Given the description of an element on the screen output the (x, y) to click on. 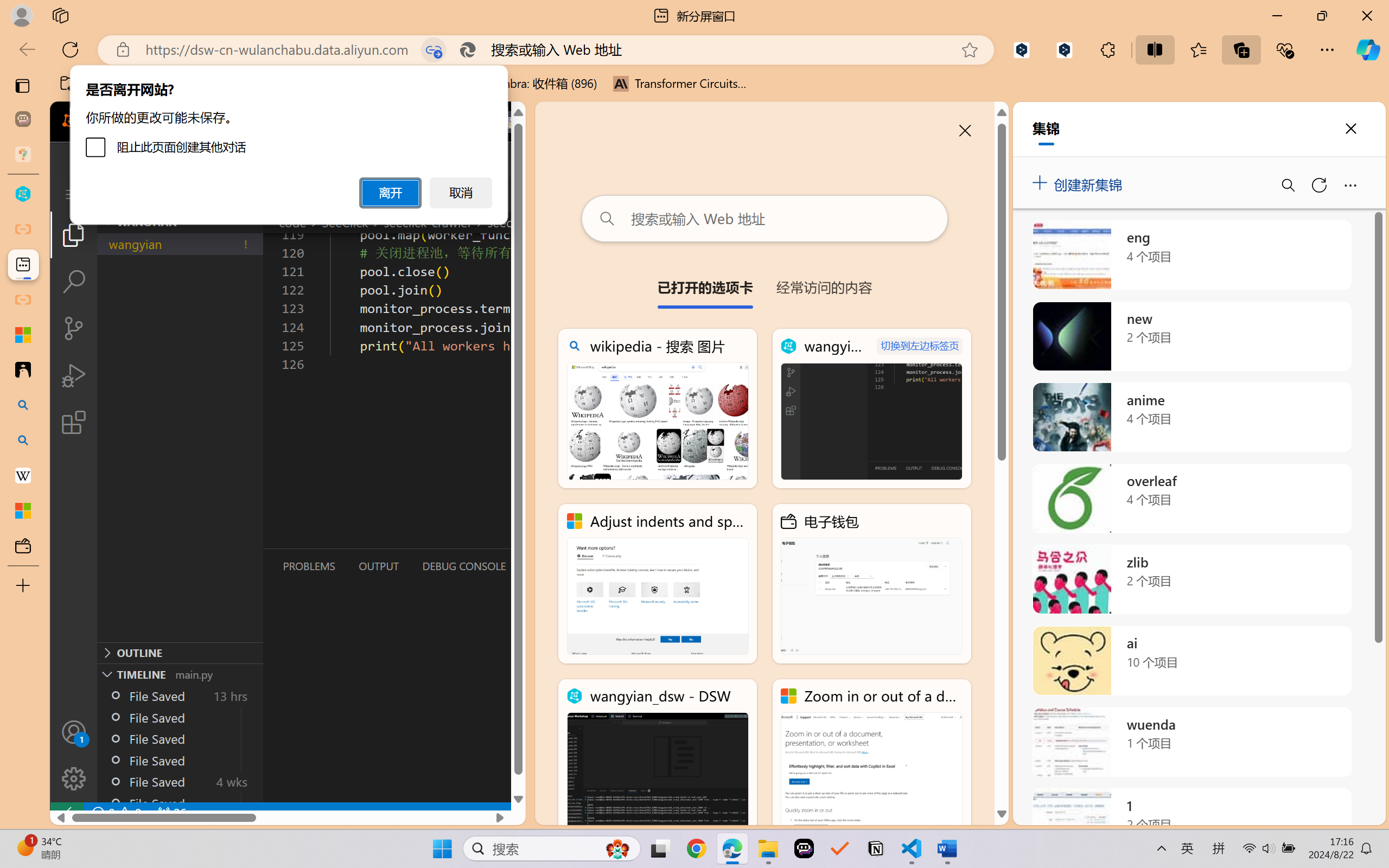
Extensions (Ctrl+Shift+X) (73, 422)
Problems (Ctrl+Shift+M) (308, 565)
